Given the description of an element on the screen output the (x, y) to click on. 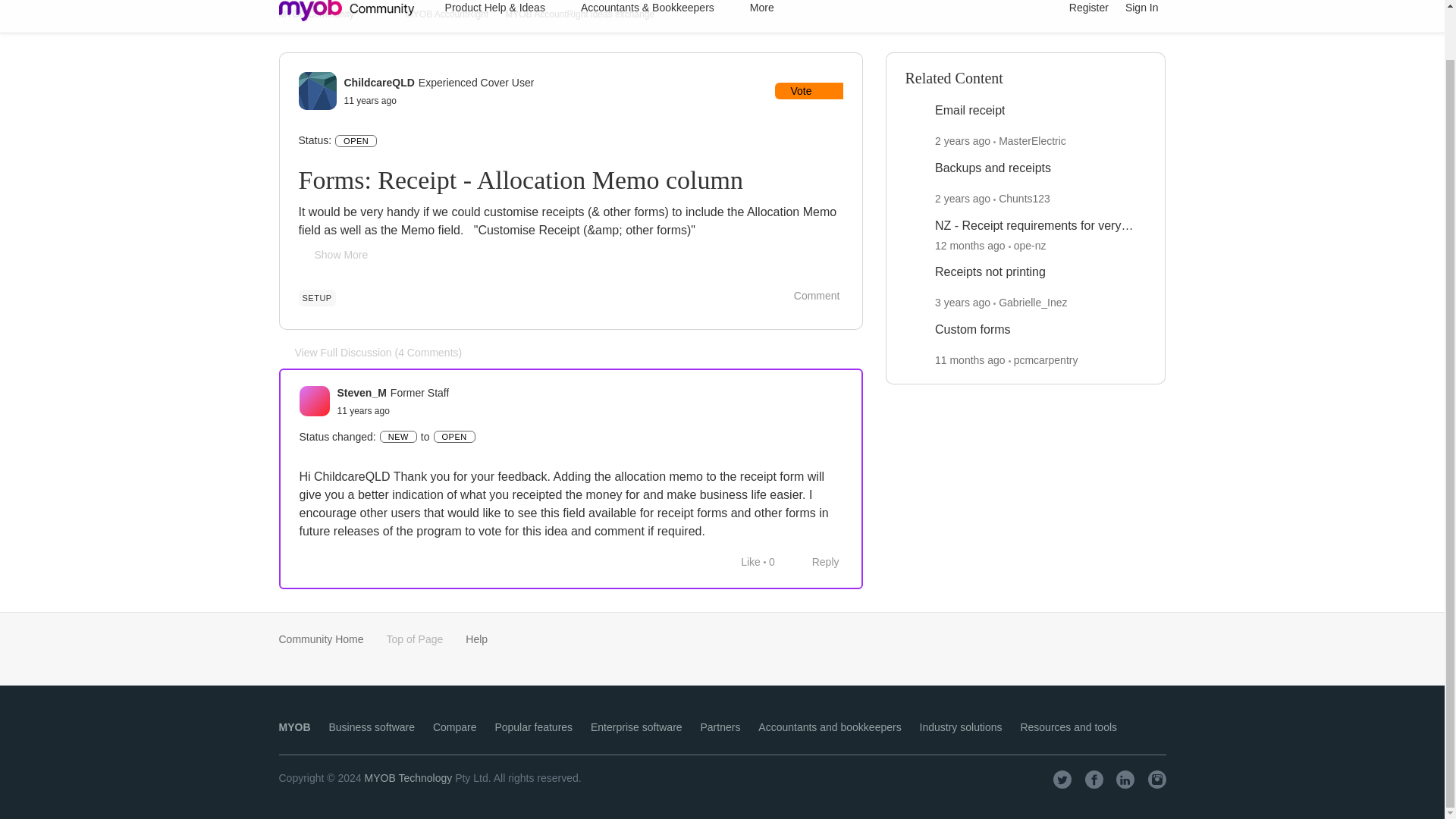
MYOB Community (316, 14)
March 12, 2014 at 10:13 PM (362, 410)
Comment (808, 295)
LinkedIn (1125, 779)
ChildcareQLD (378, 82)
Receipts not printing (989, 272)
February 11, 2023 at 5:20 AM (962, 198)
Instagram (1157, 779)
June 12, 2023 at 11:46 PM (962, 141)
Twitter (1061, 779)
